Given the description of an element on the screen output the (x, y) to click on. 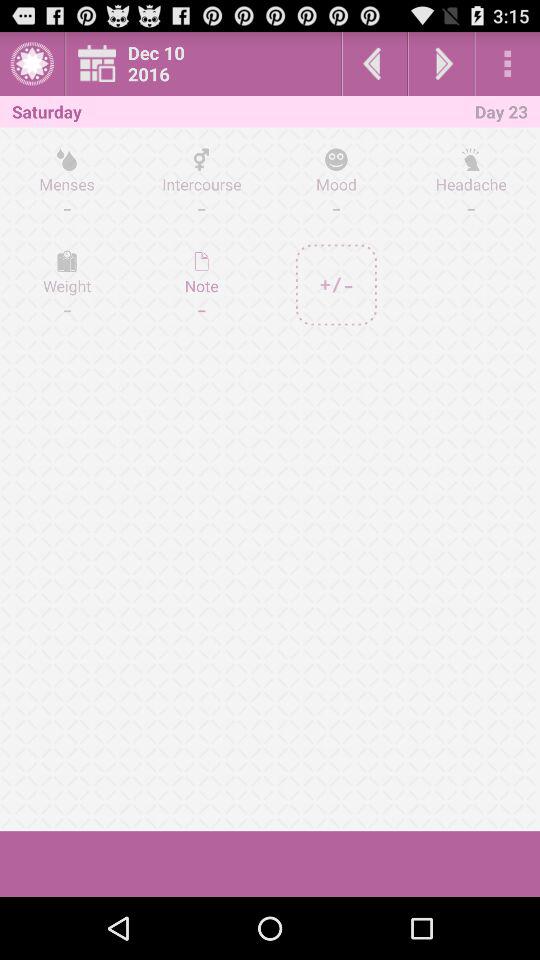
turn off app above the saturday icon (32, 63)
